Given the description of an element on the screen output the (x, y) to click on. 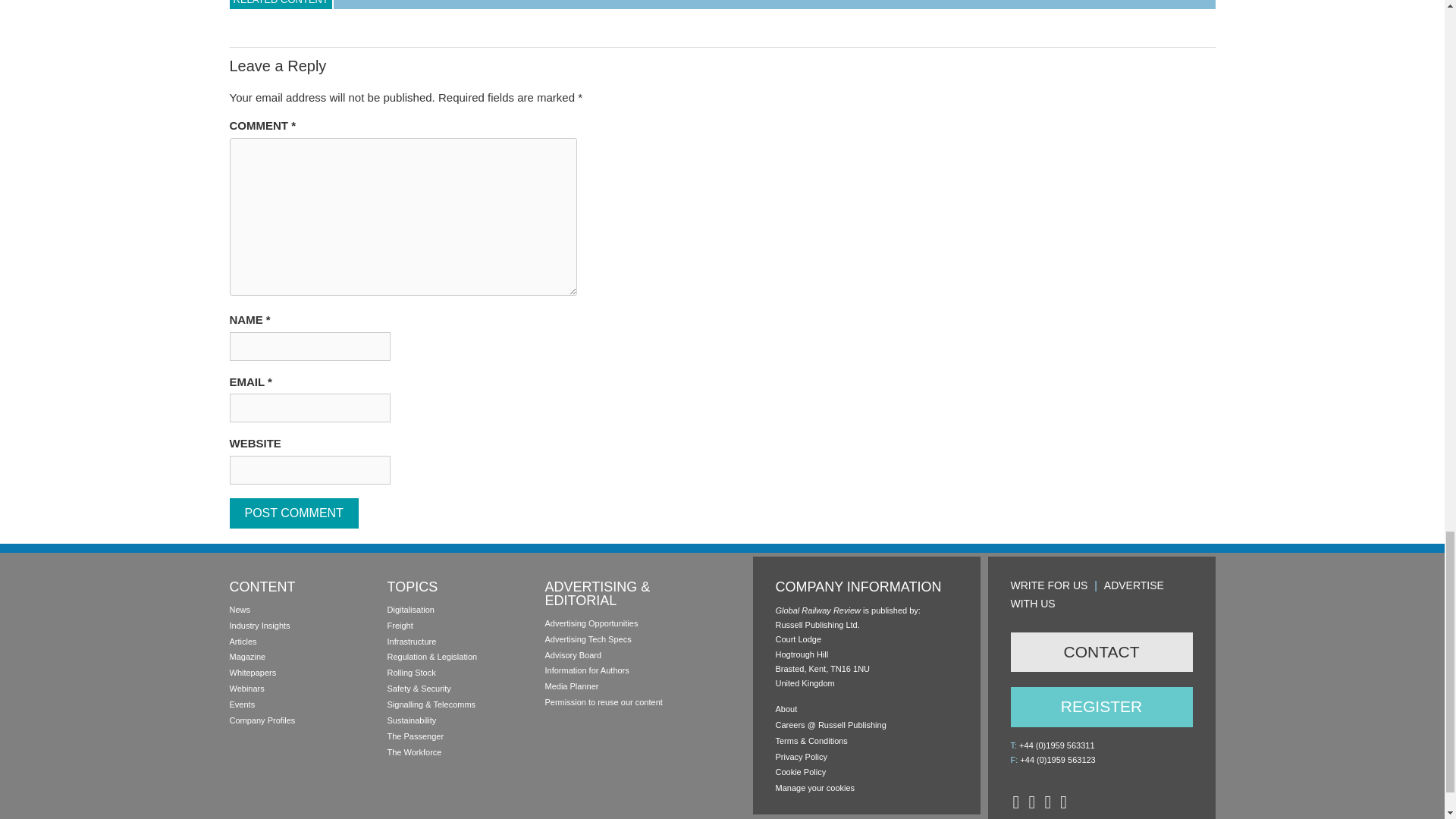
Post Comment (293, 512)
